Given the description of an element on the screen output the (x, y) to click on. 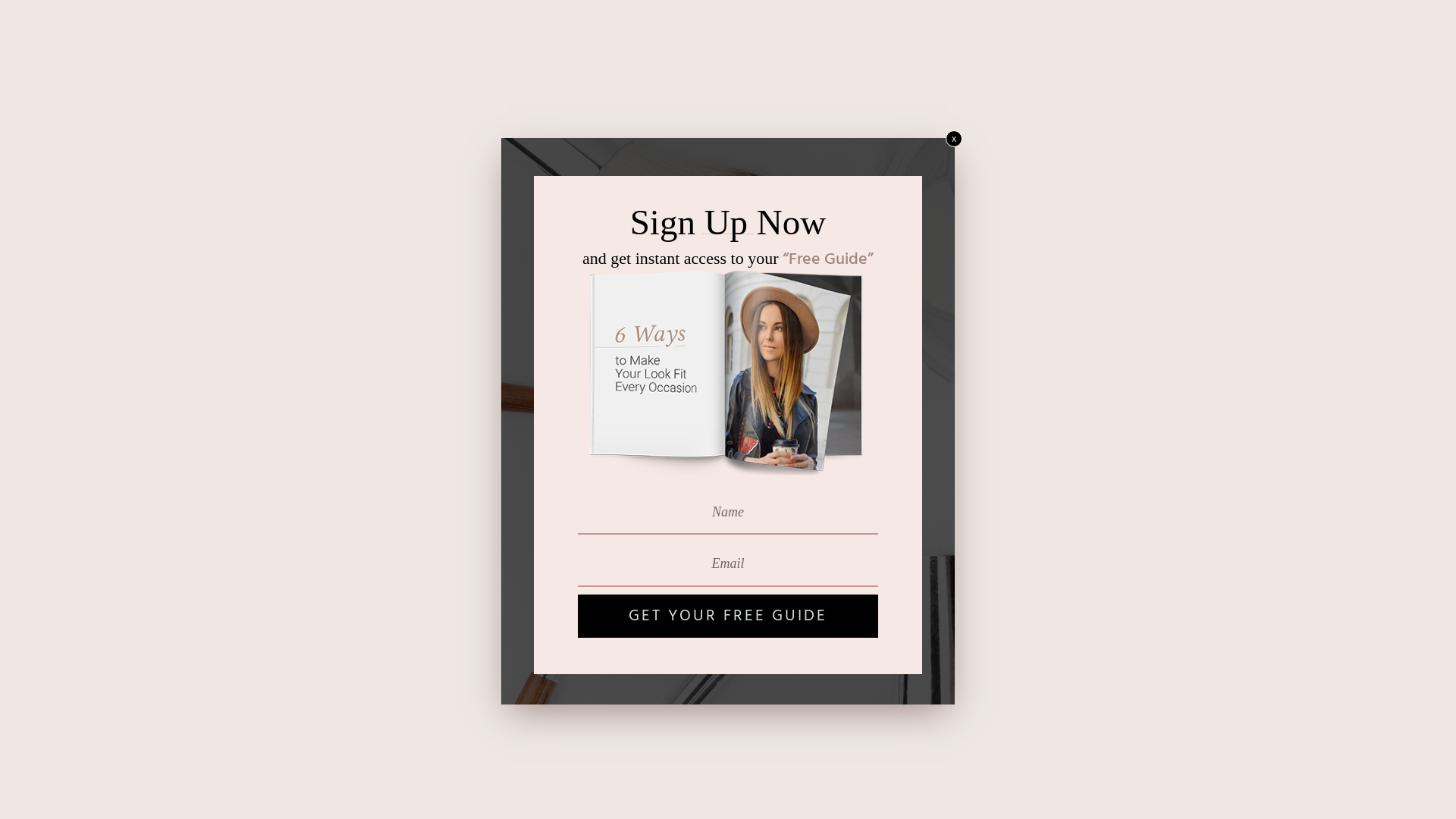
GET YOUR FREE GUIDE Element type: text (727, 616)
x Element type: text (953, 138)
magazine Element type: hover (727, 365)
